Given the description of an element on the screen output the (x, y) to click on. 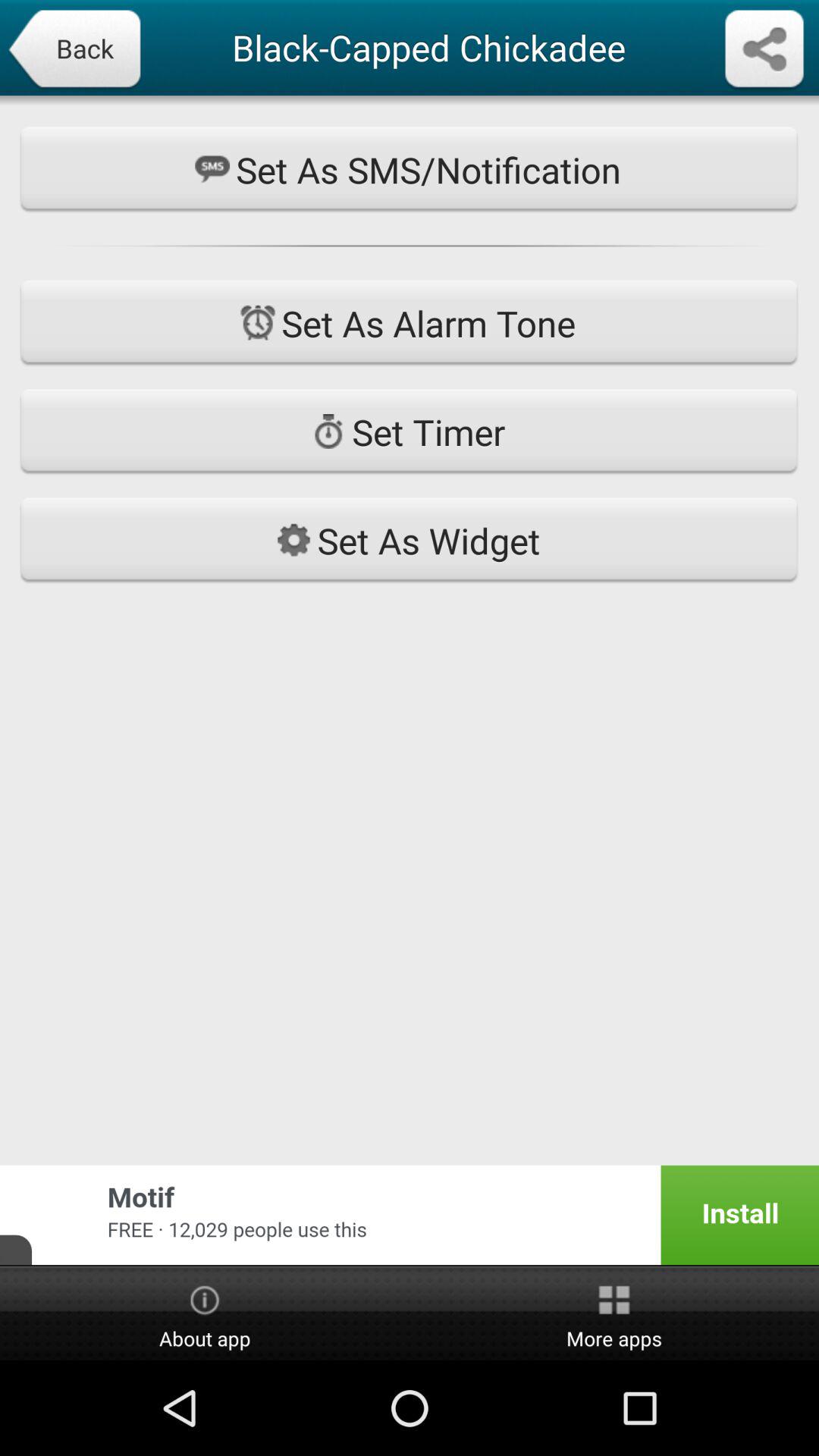
press the item to the left of more apps icon (204, 1314)
